Given the description of an element on the screen output the (x, y) to click on. 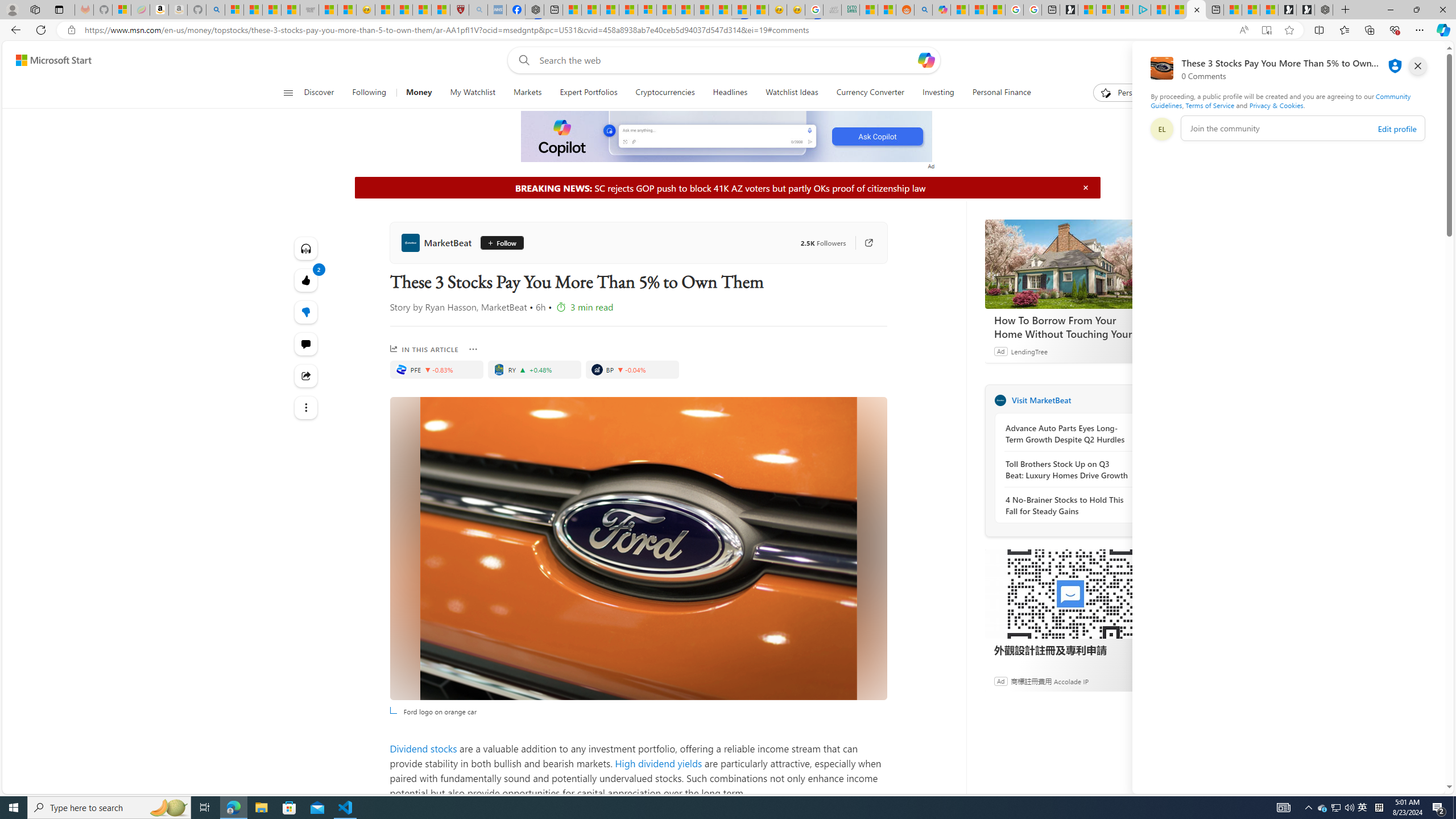
Investing (937, 92)
Visit MarketBeat website (1140, 399)
BP, BP P.L.C.. Price is 33.51. Decreased by -0.04% (631, 369)
Profile Picture (1161, 128)
My Watchlist (472, 92)
4 No-Brainer Stocks to Hold This Fall for Steady Gains (1066, 504)
